Given the description of an element on the screen output the (x, y) to click on. 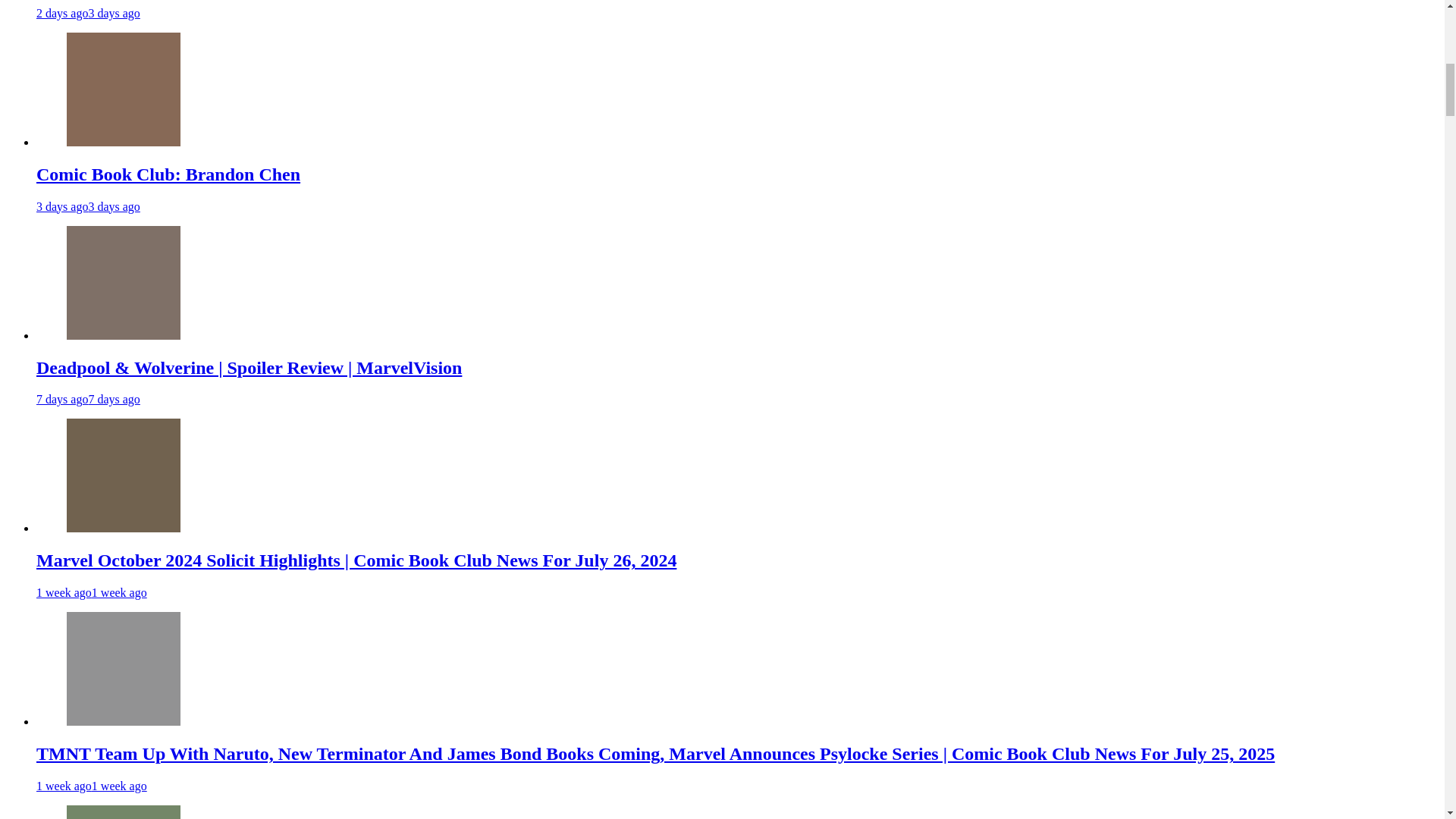
Comic Book Club: Brandon Chen (123, 89)
Comic Book Club: Brandon Chen (123, 141)
Comic Book Club: Brandon Chen (167, 174)
